Given the description of an element on the screen output the (x, y) to click on. 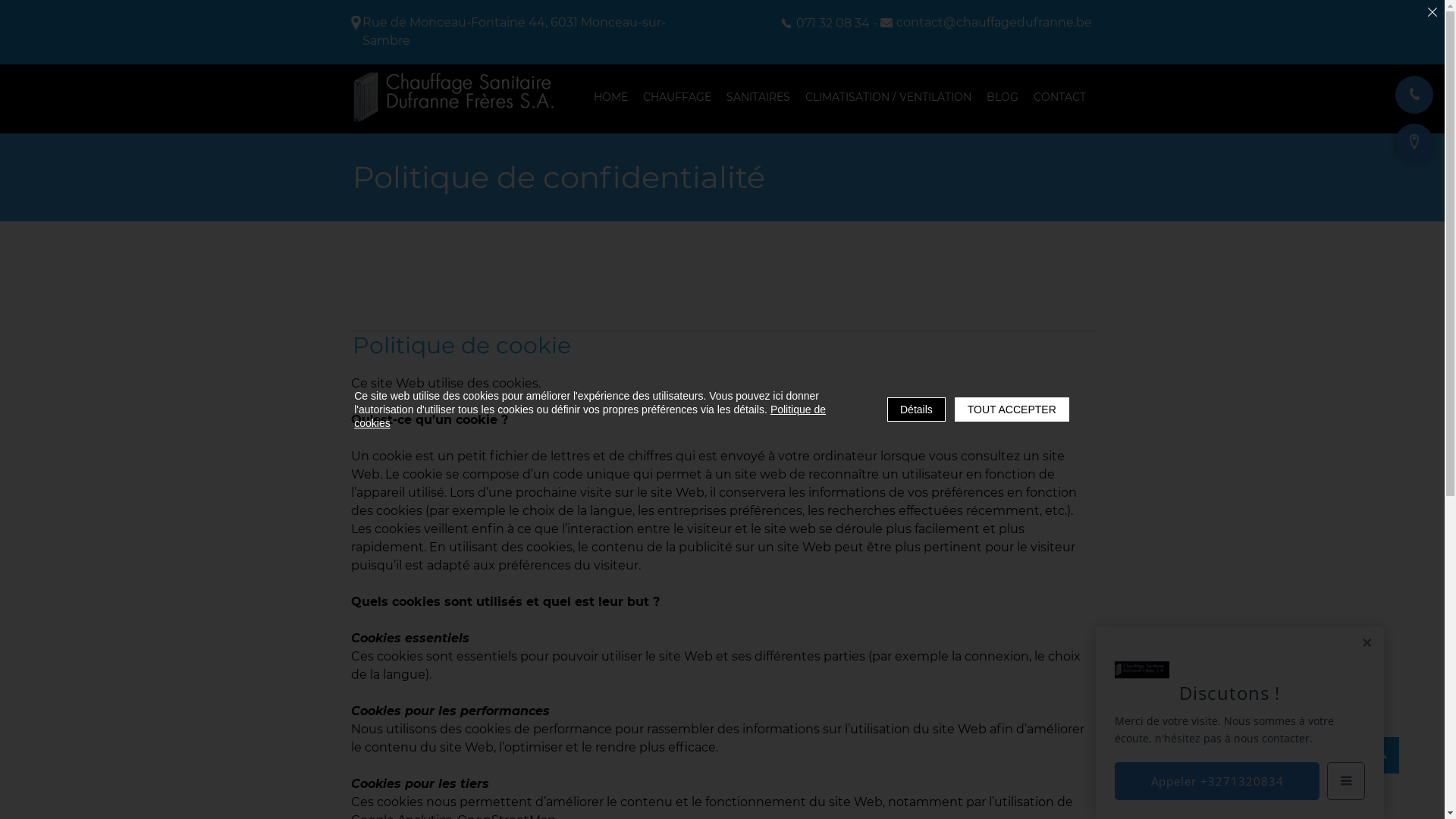
Politique de cookies Element type: text (589, 416)
071 32 08 34 - Element type: text (828, 22)
SANITAIRES Element type: text (757, 98)
CONTACT Element type: text (1058, 98)
TOUT ACCEPTER Element type: text (1011, 409)
contact@chauffagedufranne.be Element type: text (985, 21)
CLIMATISATION / VENTILATION Element type: text (888, 98)
Appeler +3271320834 Element type: text (1216, 781)
BLOG Element type: text (1001, 98)
CHAUFFAGE Element type: text (676, 98)
HOME Element type: text (609, 98)
